Given the description of an element on the screen output the (x, y) to click on. 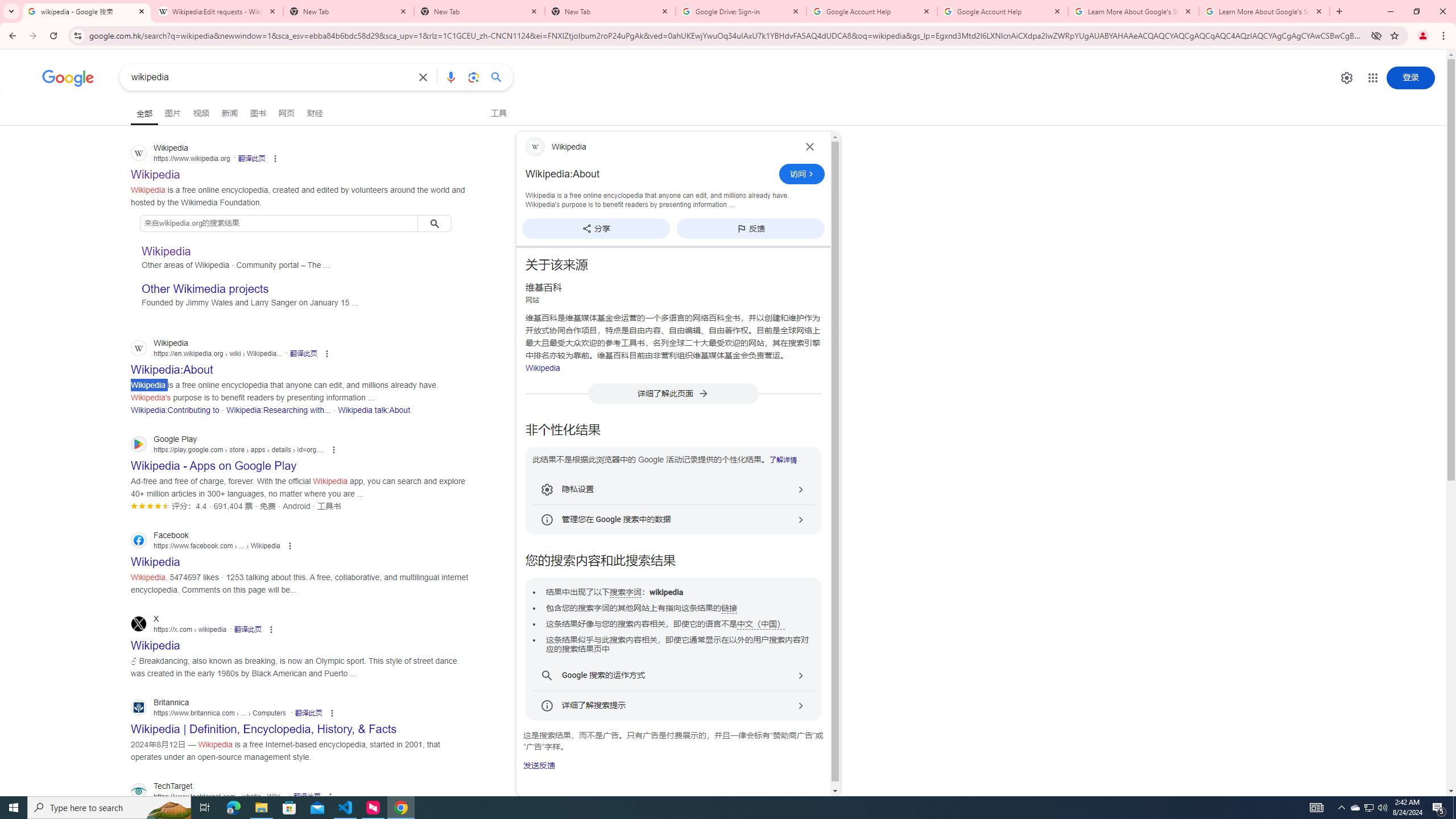
New Tab (479, 11)
Google Account Help (1002, 11)
